Given the description of an element on the screen output the (x, y) to click on. 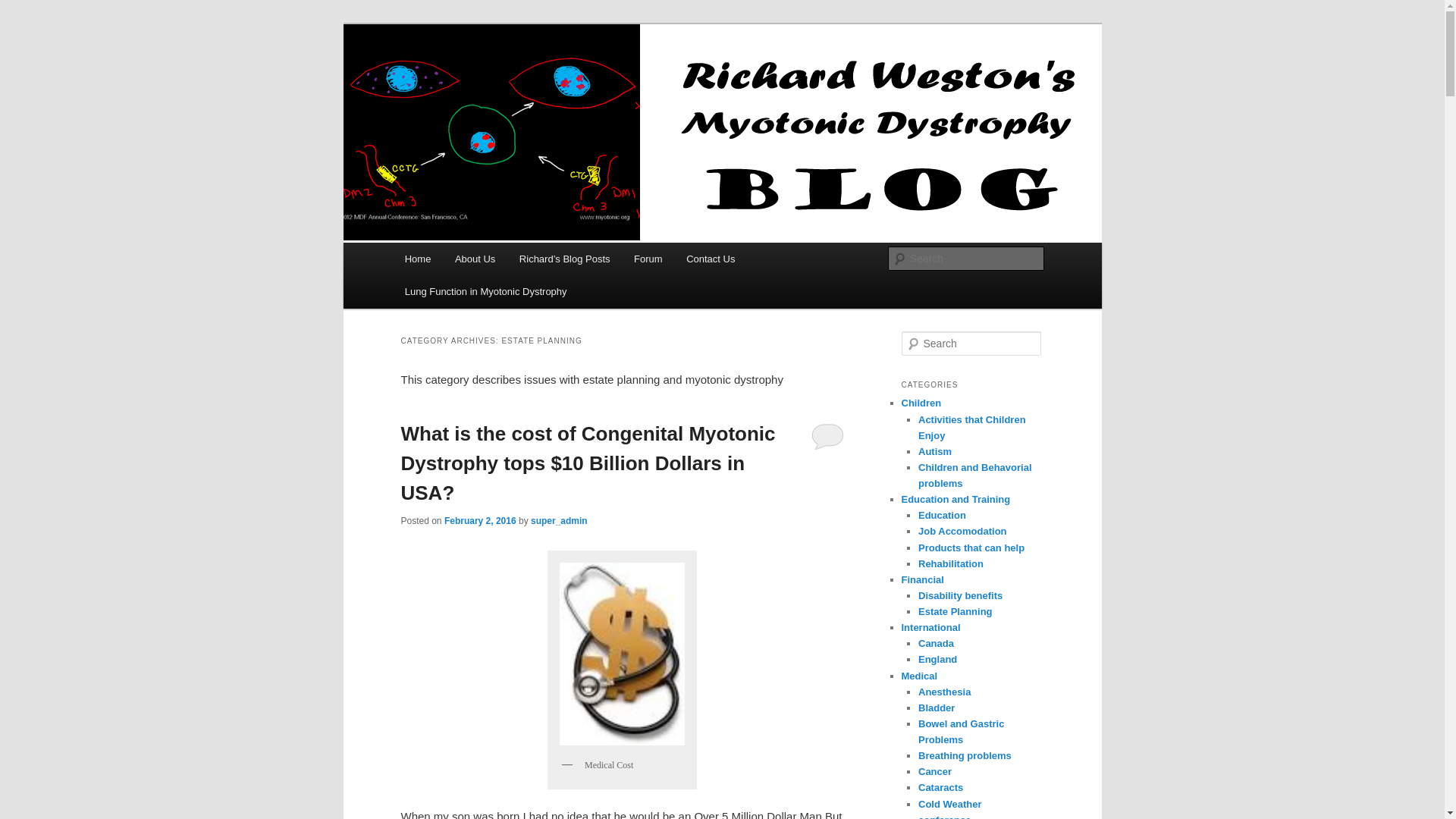
Lung Function in Myotonic Dystrophy (485, 291)
This category describes education and myotonic dystrophy (942, 514)
Search (24, 8)
Home (417, 258)
Contact Us (710, 258)
February 2, 2016 (480, 520)
About Us (474, 258)
6:11 pm (480, 520)
